Given the description of an element on the screen output the (x, y) to click on. 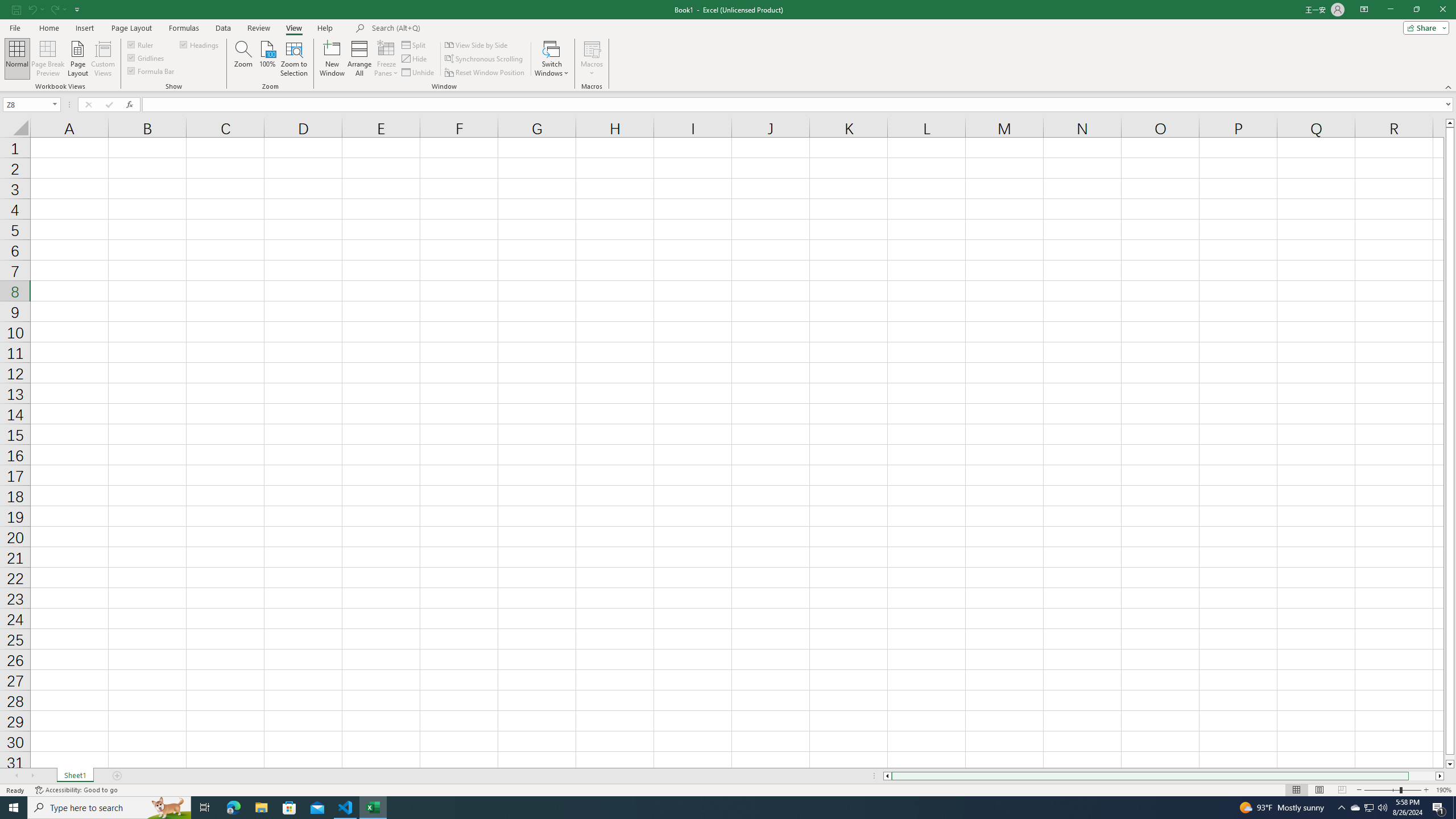
View Side by Side (476, 44)
Arrange All (359, 58)
Zoom... (242, 58)
Macros (591, 58)
Hide (415, 58)
Zoom to Selection (293, 58)
